Given the description of an element on the screen output the (x, y) to click on. 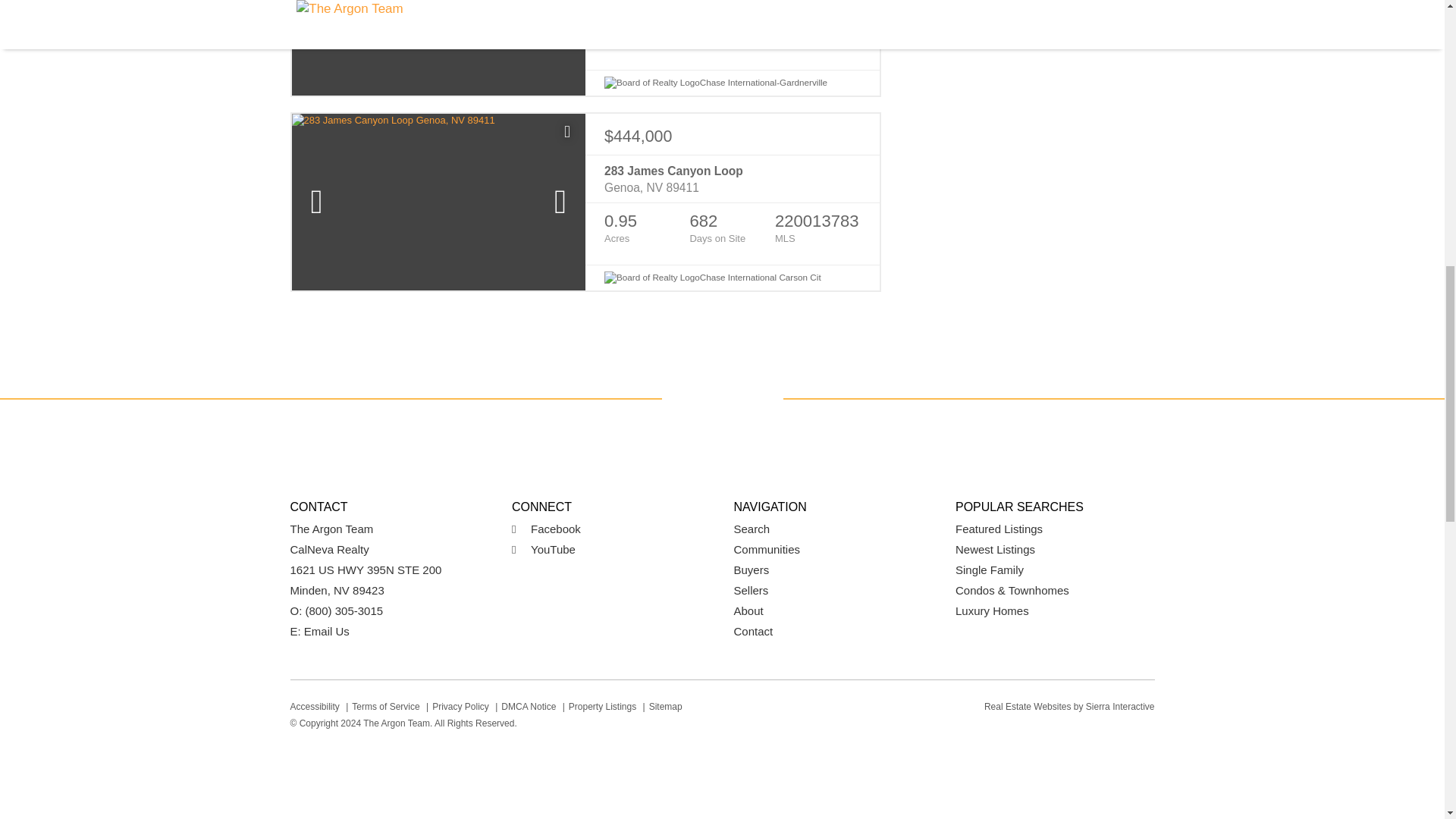
283 James Canyon Loop Genoa,  NV 89411 (732, 179)
